Given the description of an element on the screen output the (x, y) to click on. 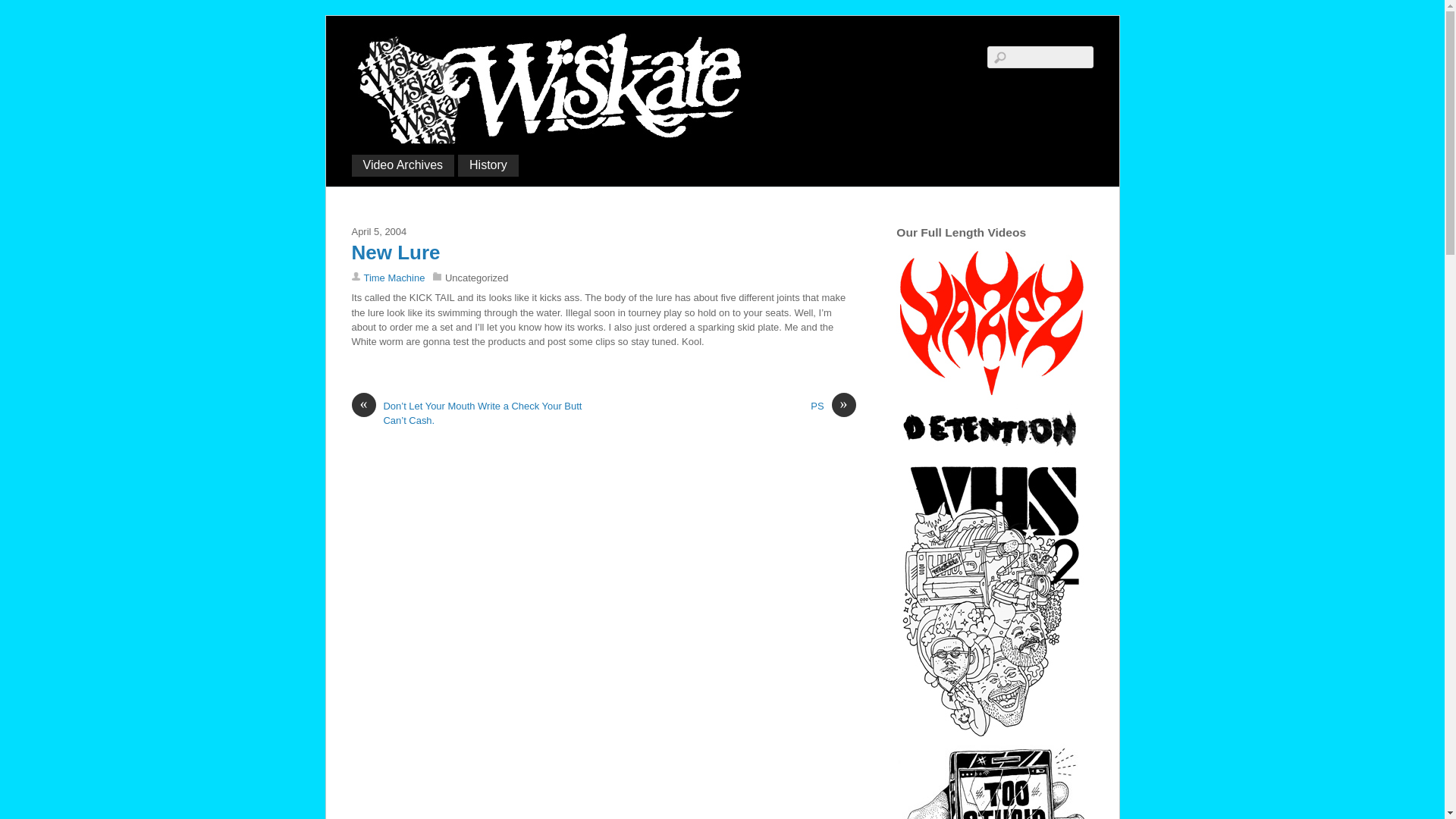
History (488, 165)
Search (1040, 56)
Time Machine (394, 277)
New Lure (396, 251)
Video Archives (403, 165)
